Given the description of an element on the screen output the (x, y) to click on. 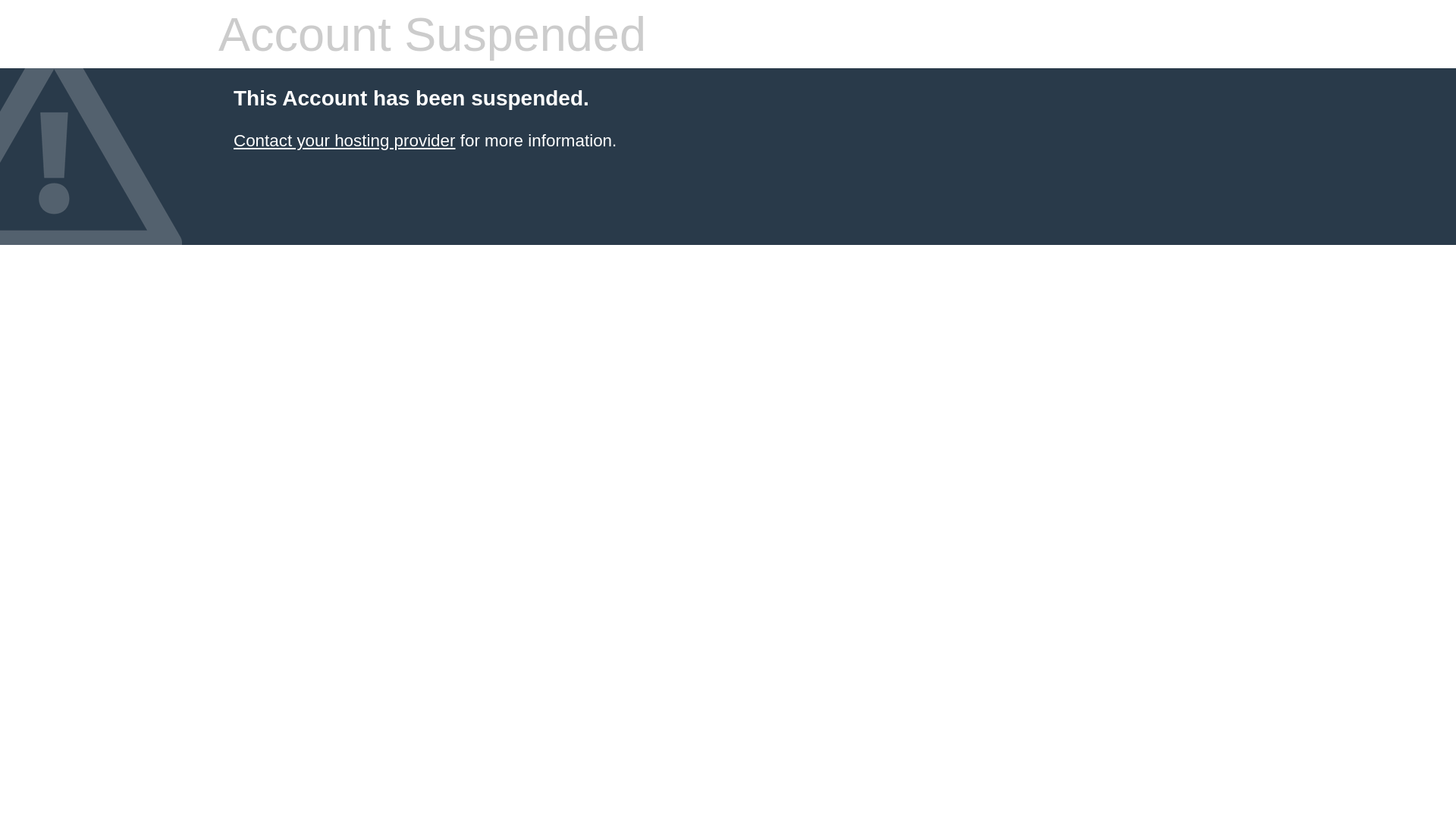
Contact your hosting provider Element type: text (344, 140)
